Given the description of an element on the screen output the (x, y) to click on. 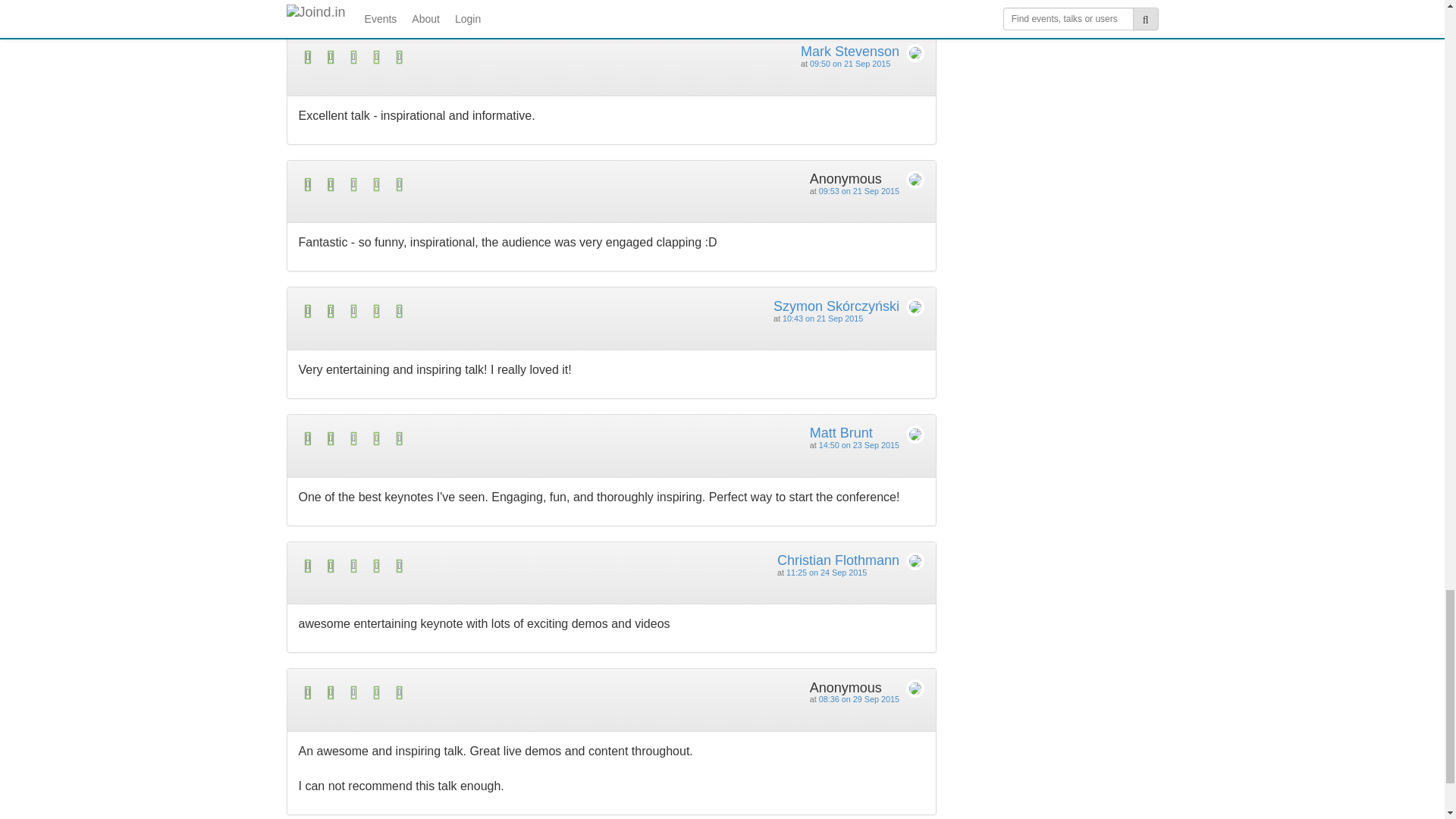
Rated 5 (454, 184)
Rated 5 (454, 311)
Rated 5 (454, 56)
